Given the description of an element on the screen output the (x, y) to click on. 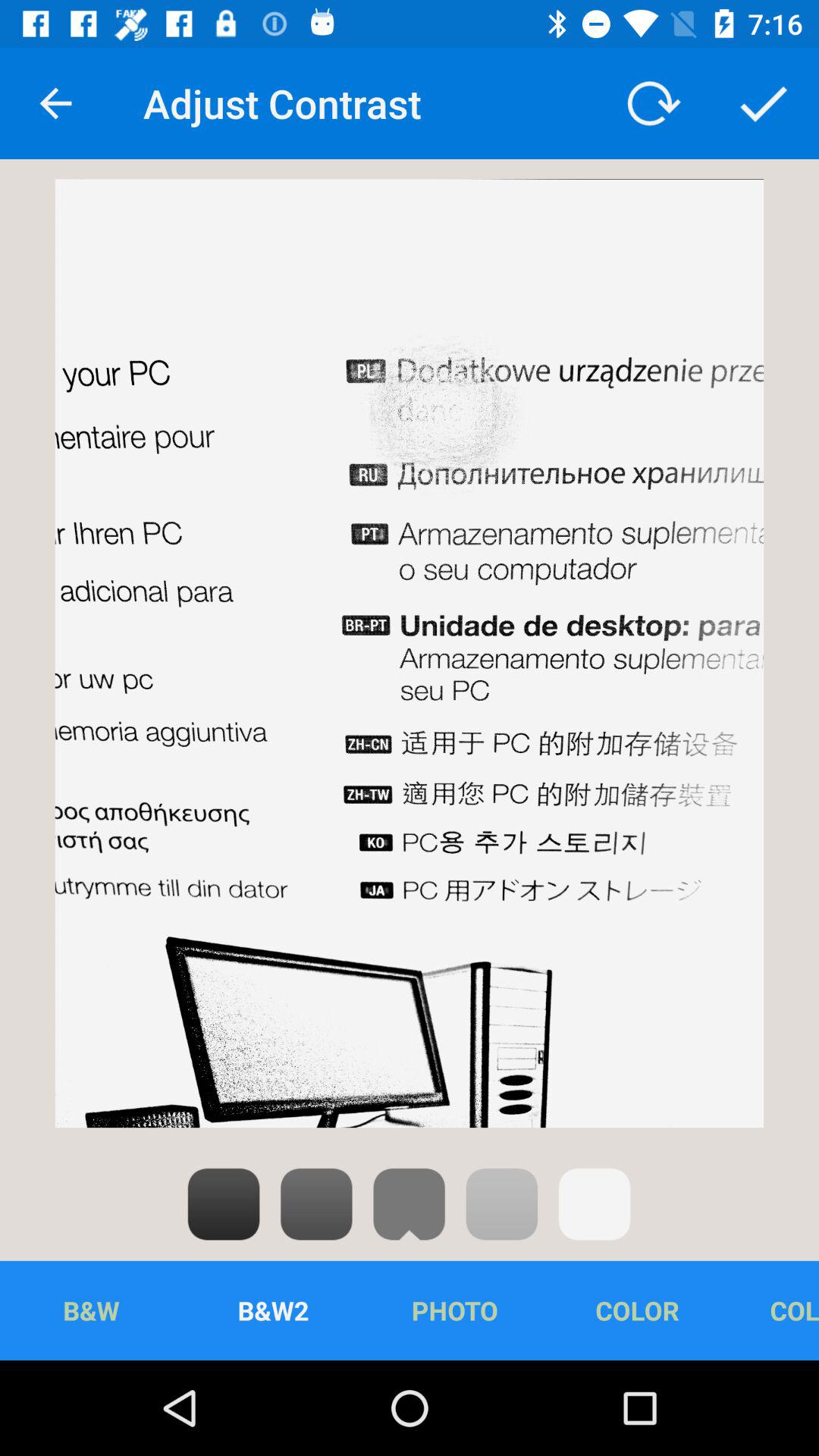
launch the icon at the top left corner (55, 103)
